Given the description of an element on the screen output the (x, y) to click on. 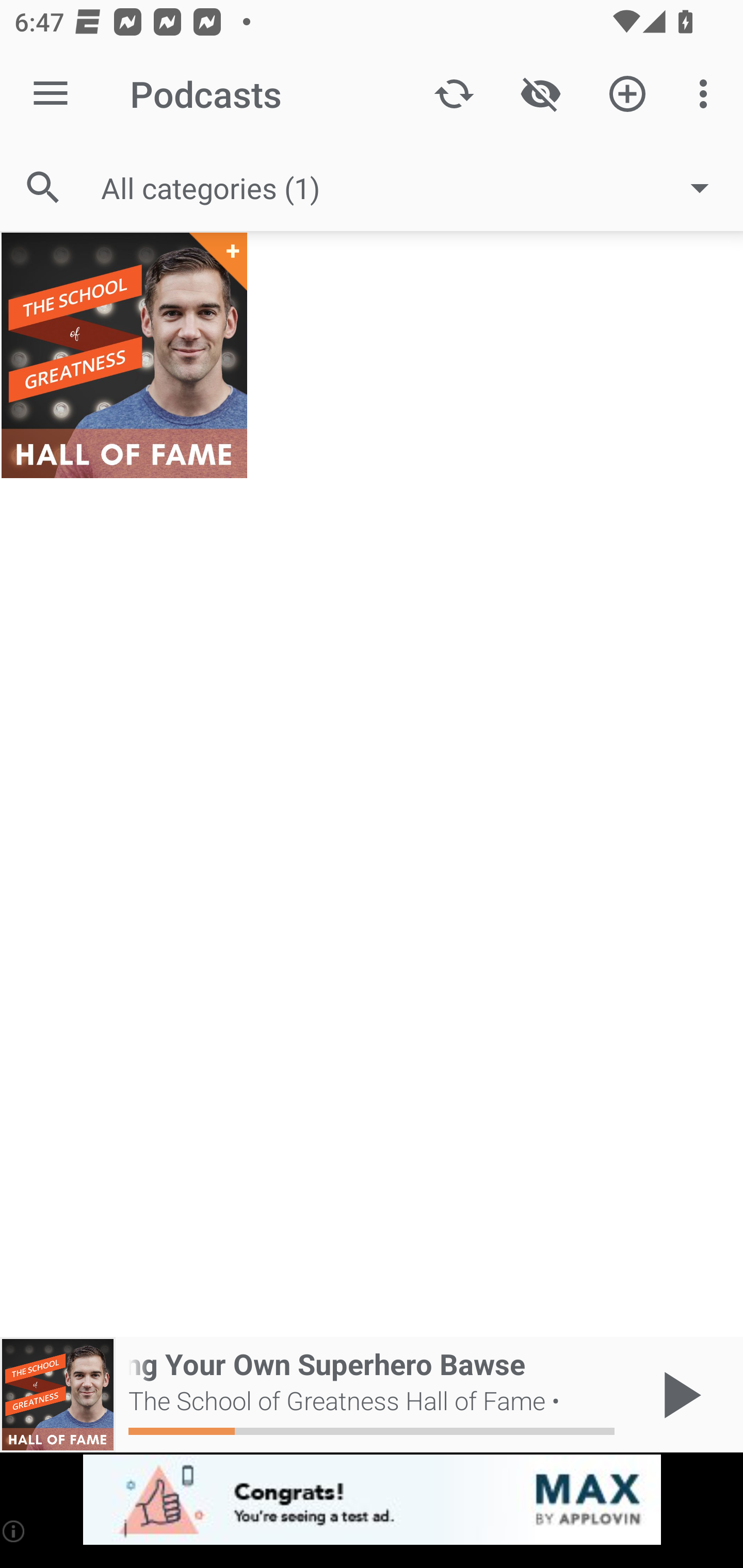
Open navigation sidebar (50, 93)
Update (453, 93)
Show / Hide played content (540, 93)
Add new Podcast (626, 93)
More options (706, 93)
Search (43, 187)
All categories (1) (414, 188)
The School of Greatness Hall of Fame + (124, 355)
Play / Pause (677, 1394)
app-monetization (371, 1500)
(i) (14, 1531)
